Given the description of an element on the screen output the (x, y) to click on. 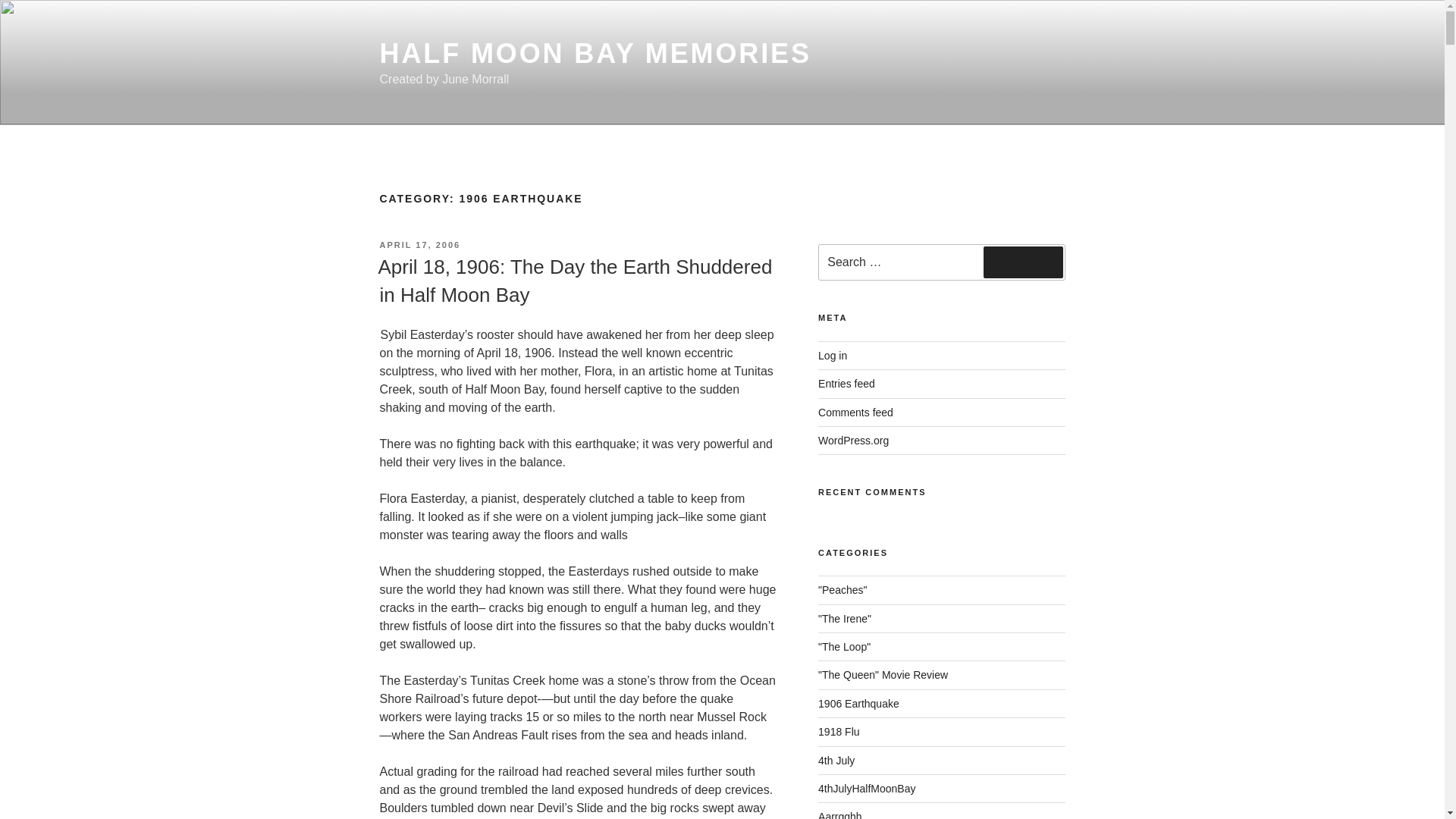
April 18, 1906: The Day the Earth Shuddered in Half Moon Bay (574, 280)
HALF MOON BAY MEMORIES (594, 52)
Comments feed (855, 412)
APRIL 17, 2006 (419, 244)
"Peaches" (842, 589)
Log in (832, 355)
Entries feed (846, 383)
"The Loop" (844, 646)
4thJulyHalfMoonBay (866, 788)
"The Queen" Movie Review (882, 674)
1906 Earthquake (858, 703)
4th July (836, 760)
Search (1023, 262)
"The Irene" (844, 618)
WordPress.org (853, 440)
